Given the description of an element on the screen output the (x, y) to click on. 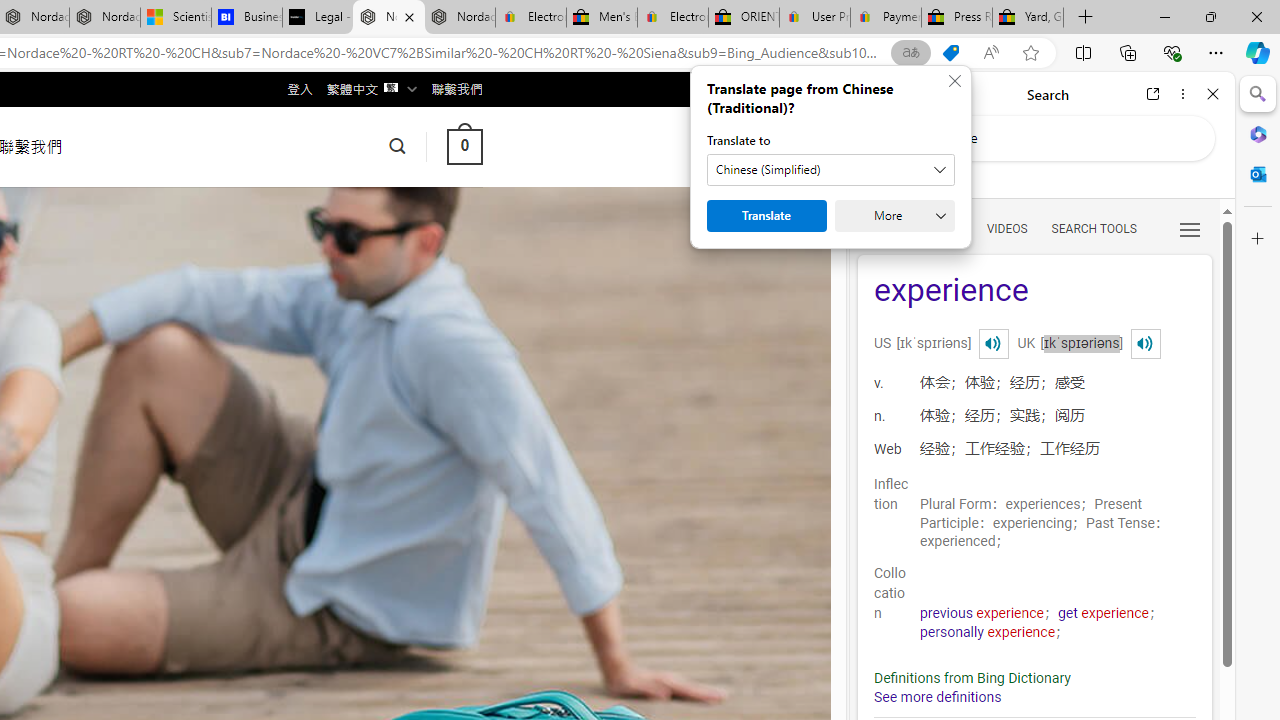
VIDEOS (1006, 228)
Nordace - Summer Adventures 2024 (388, 17)
Search Filter, WEB (882, 228)
Payments Terms of Use | eBay.com (886, 17)
Search Filter, Search Tools (1093, 228)
Electronics, Cars, Fashion, Collectibles & More | eBay (672, 17)
Search the web (1051, 137)
